Given the description of an element on the screen output the (x, y) to click on. 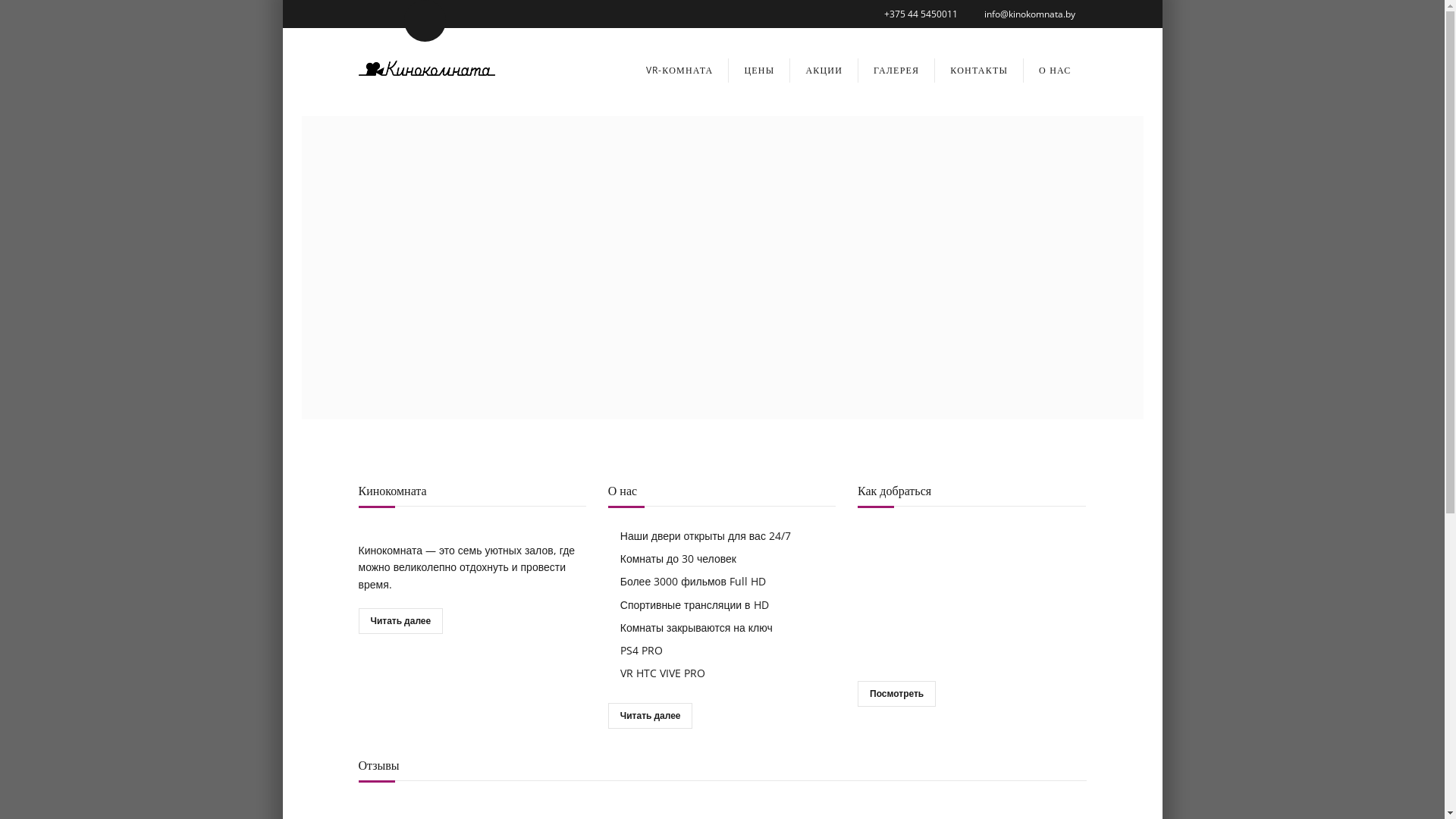
info@kinokomnata.by Element type: text (1029, 13)
